Given the description of an element on the screen output the (x, y) to click on. 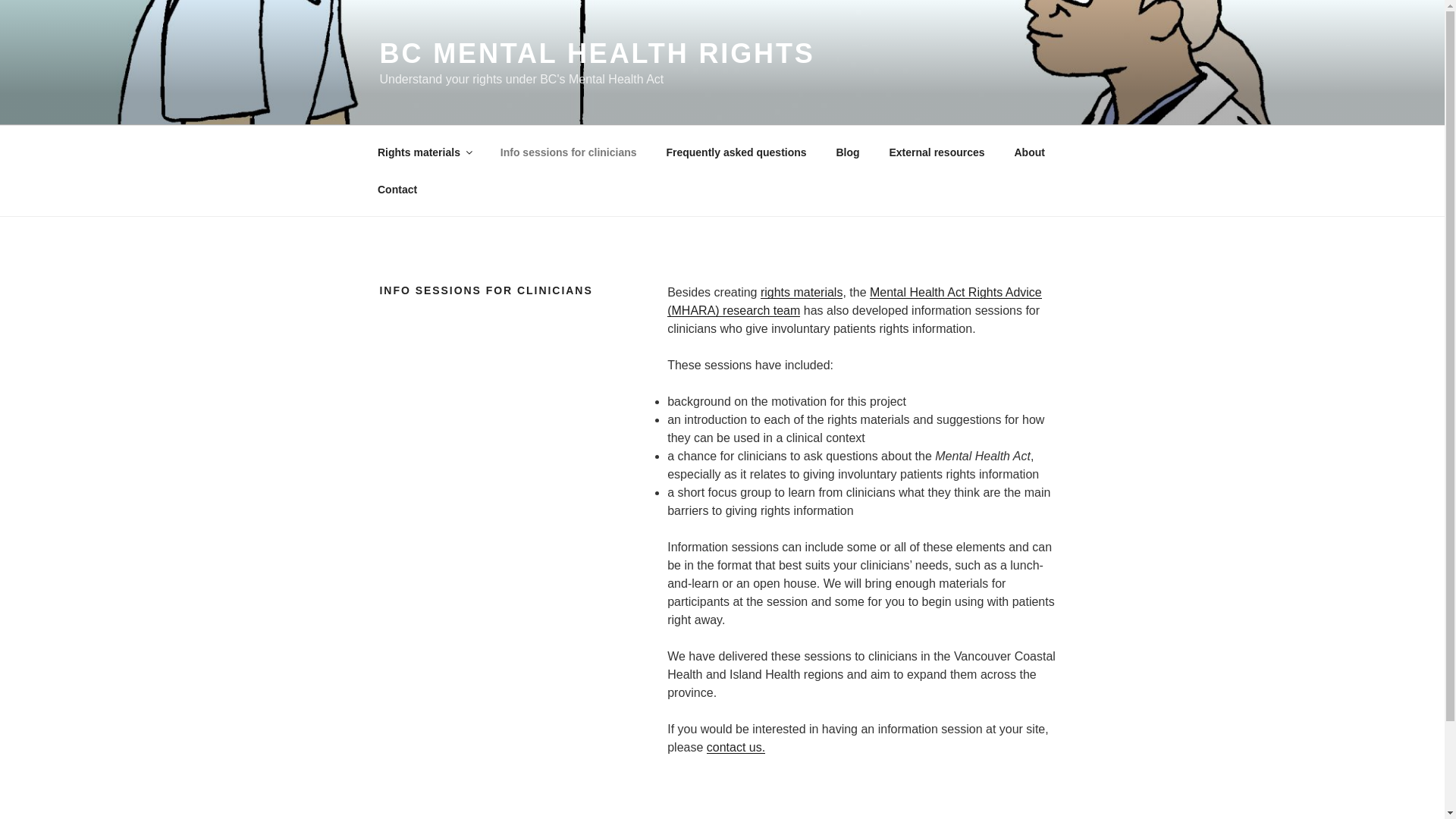
About (1029, 151)
Rights materials (423, 151)
Blog (847, 151)
contact us. (735, 747)
BC MENTAL HEALTH RIGHTS (595, 52)
External resources (936, 151)
Contact (396, 189)
rights materials (801, 291)
Info sessions for clinicians (567, 151)
Frequently asked questions (735, 151)
